Given the description of an element on the screen output the (x, y) to click on. 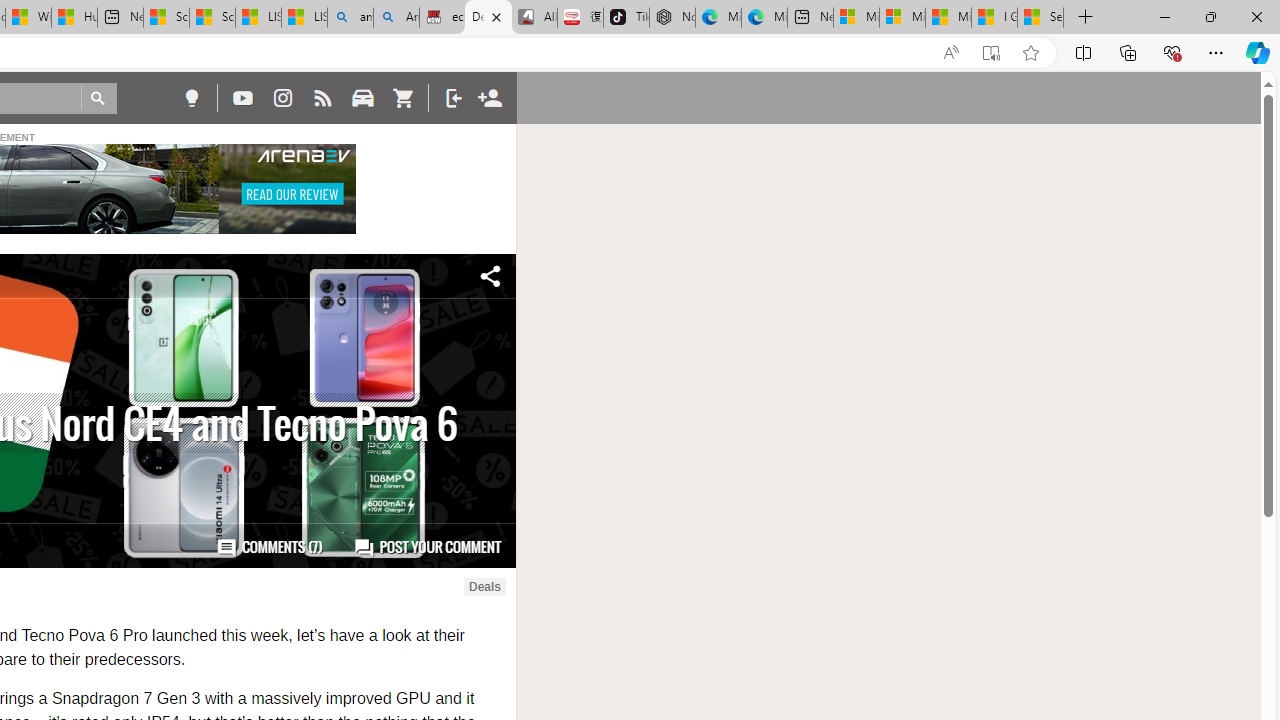
Deals (484, 587)
